Given the description of an element on the screen output the (x, y) to click on. 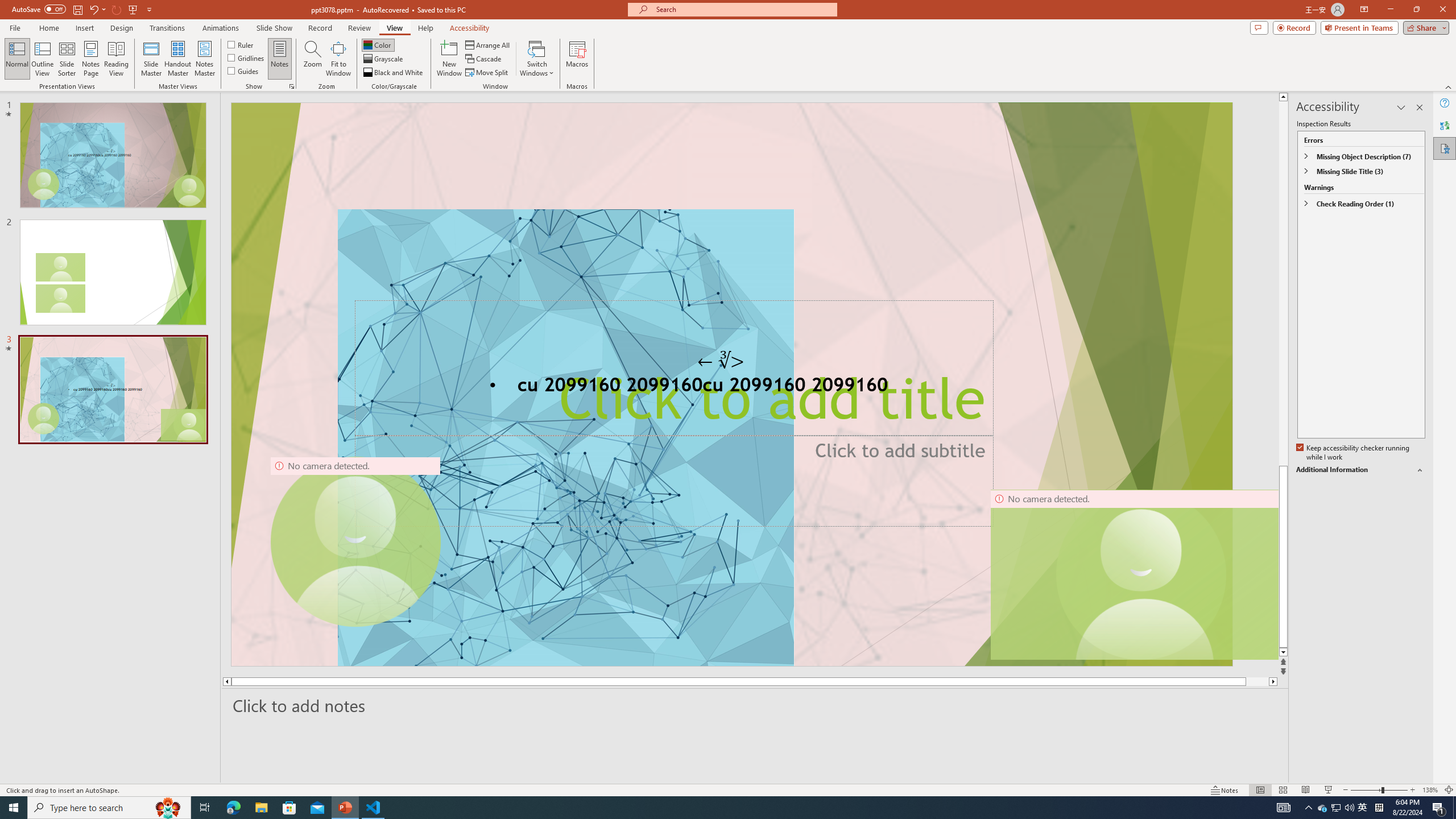
Close pane (1419, 107)
Notes (279, 58)
Restore Down (1416, 9)
Guides (243, 69)
Color (377, 44)
Slide Sorter (1282, 790)
TextBox 61 (730, 386)
Arrange All (488, 44)
Review (359, 28)
Outline View (42, 58)
Zoom In (1412, 790)
